Given the description of an element on the screen output the (x, y) to click on. 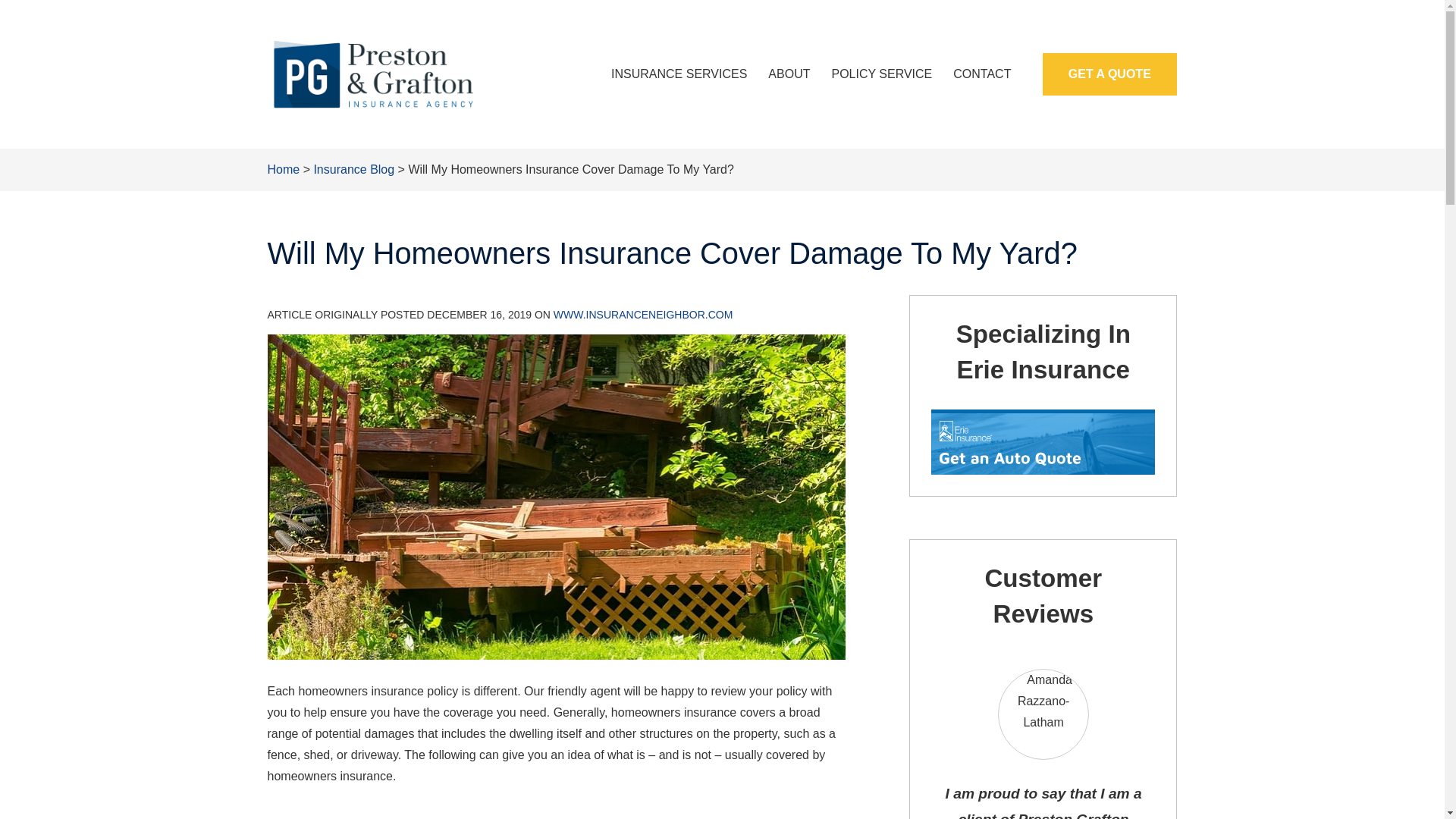
ERIE Auto Insurance Quote (1033, 443)
INSURANCE SERVICES (678, 74)
